Given the description of an element on the screen output the (x, y) to click on. 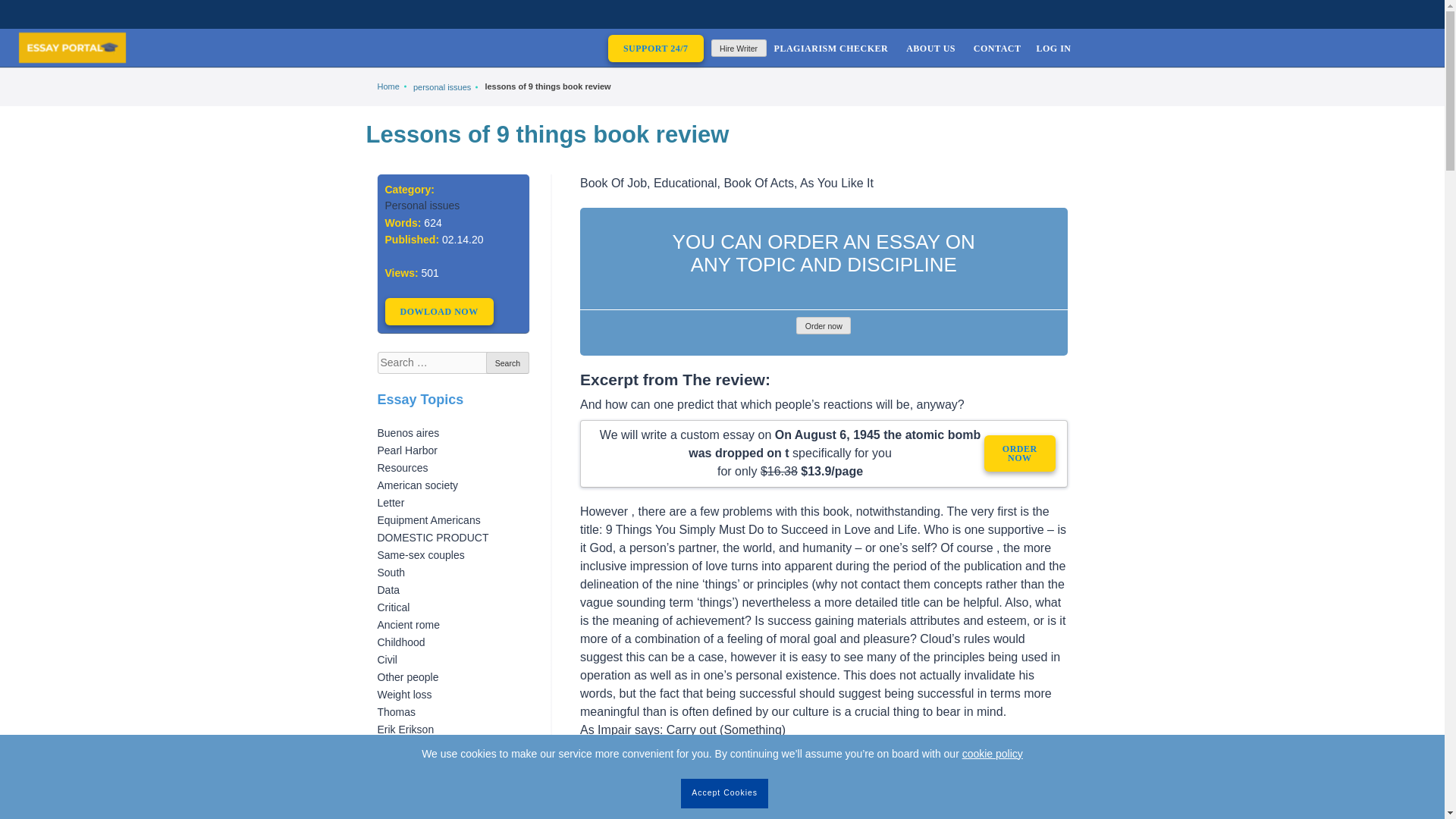
South (391, 572)
Resources (402, 467)
PLAGIARISM CHECKER (831, 47)
Letter (390, 502)
ABOUT US (930, 47)
Ancient rome (408, 624)
Personal issues (422, 205)
LOG IN (1052, 47)
personal issues (441, 87)
Thomas (396, 711)
American society (417, 485)
Weight loss (404, 694)
Same-sex couples (420, 554)
Childhood (401, 642)
Buenos aires (408, 432)
